Given the description of an element on the screen output the (x, y) to click on. 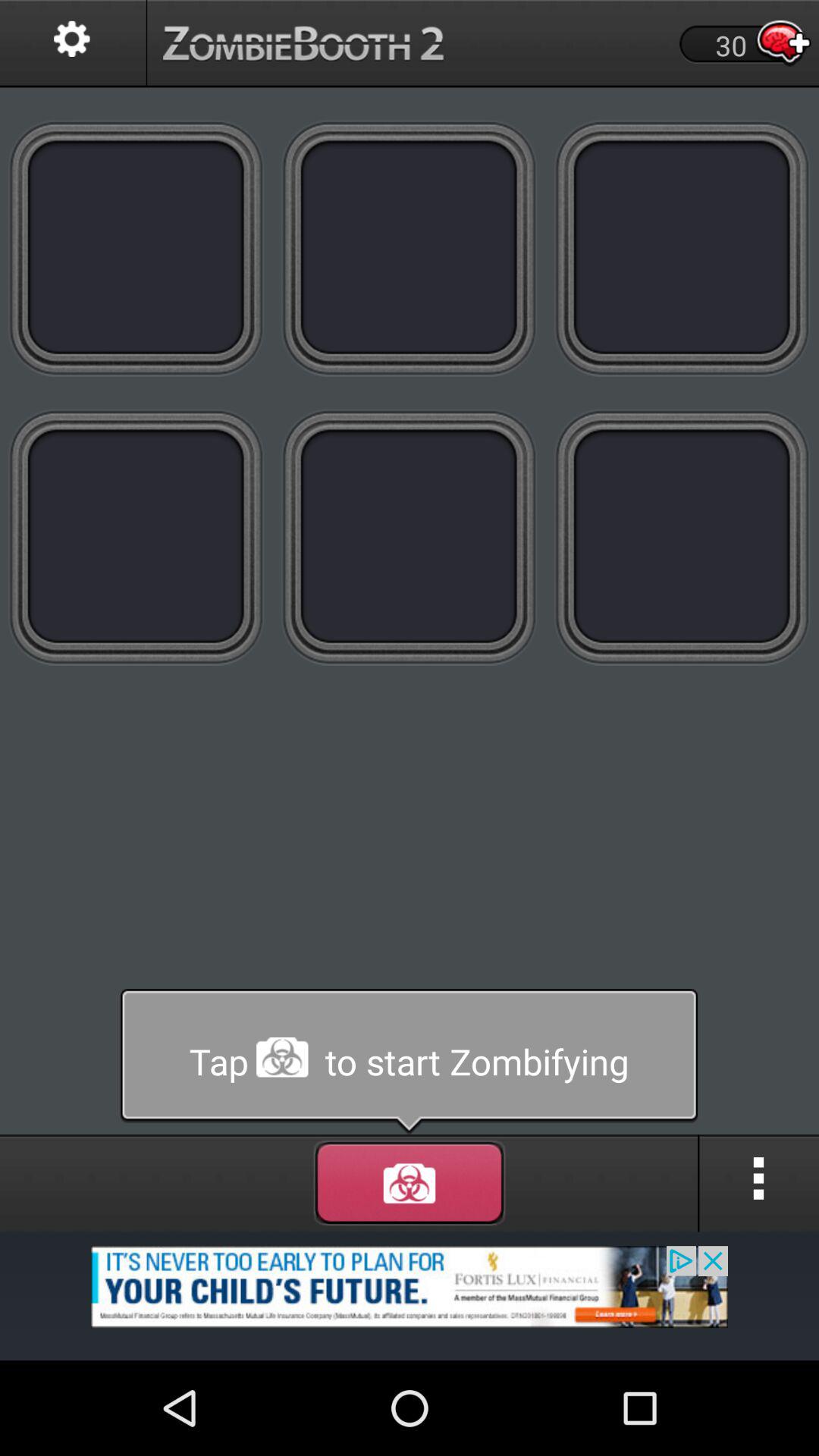
more options (759, 1182)
